Given the description of an element on the screen output the (x, y) to click on. 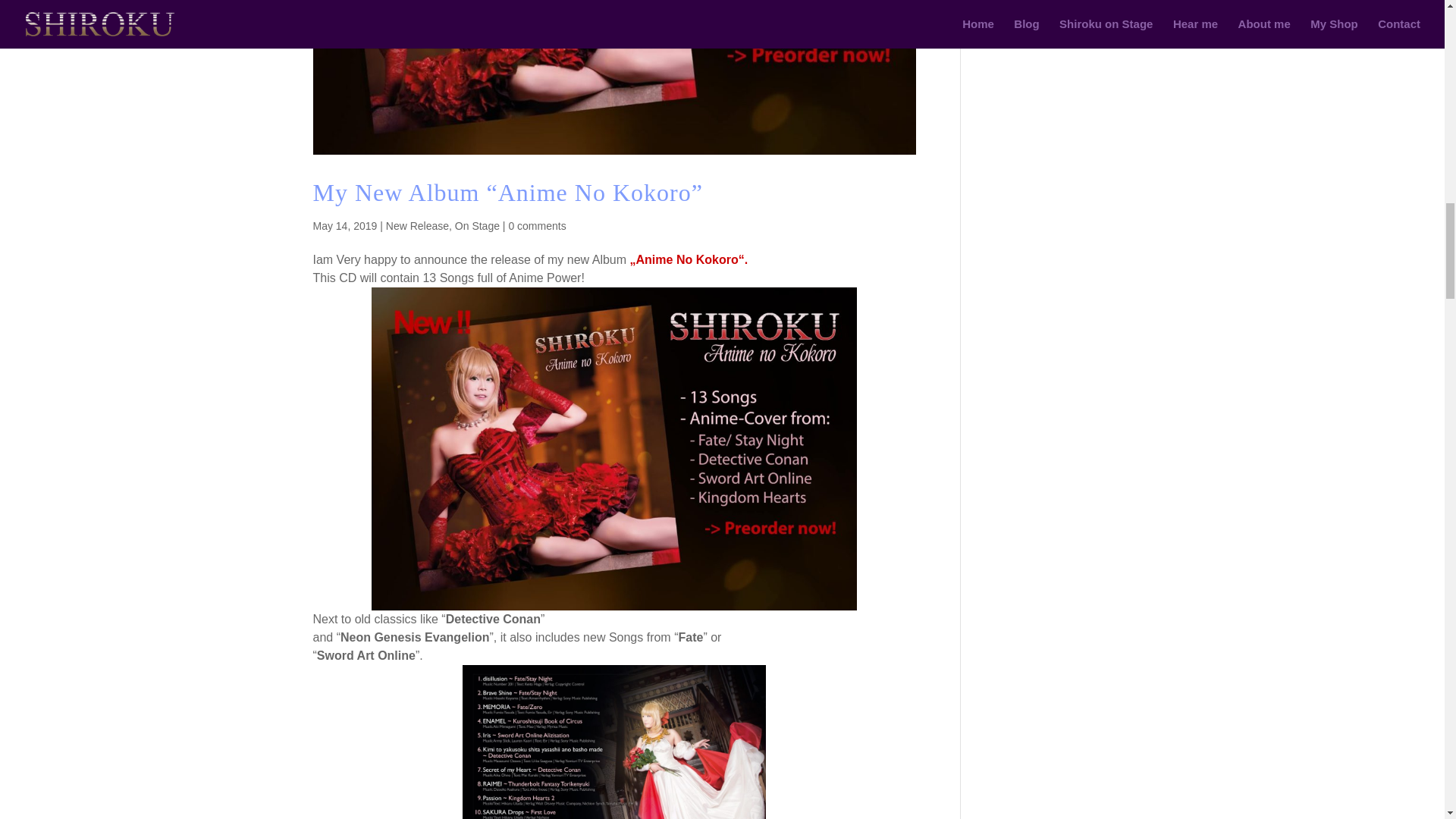
On Stage (476, 225)
New Release (416, 225)
0 comments (537, 225)
